Given the description of an element on the screen output the (x, y) to click on. 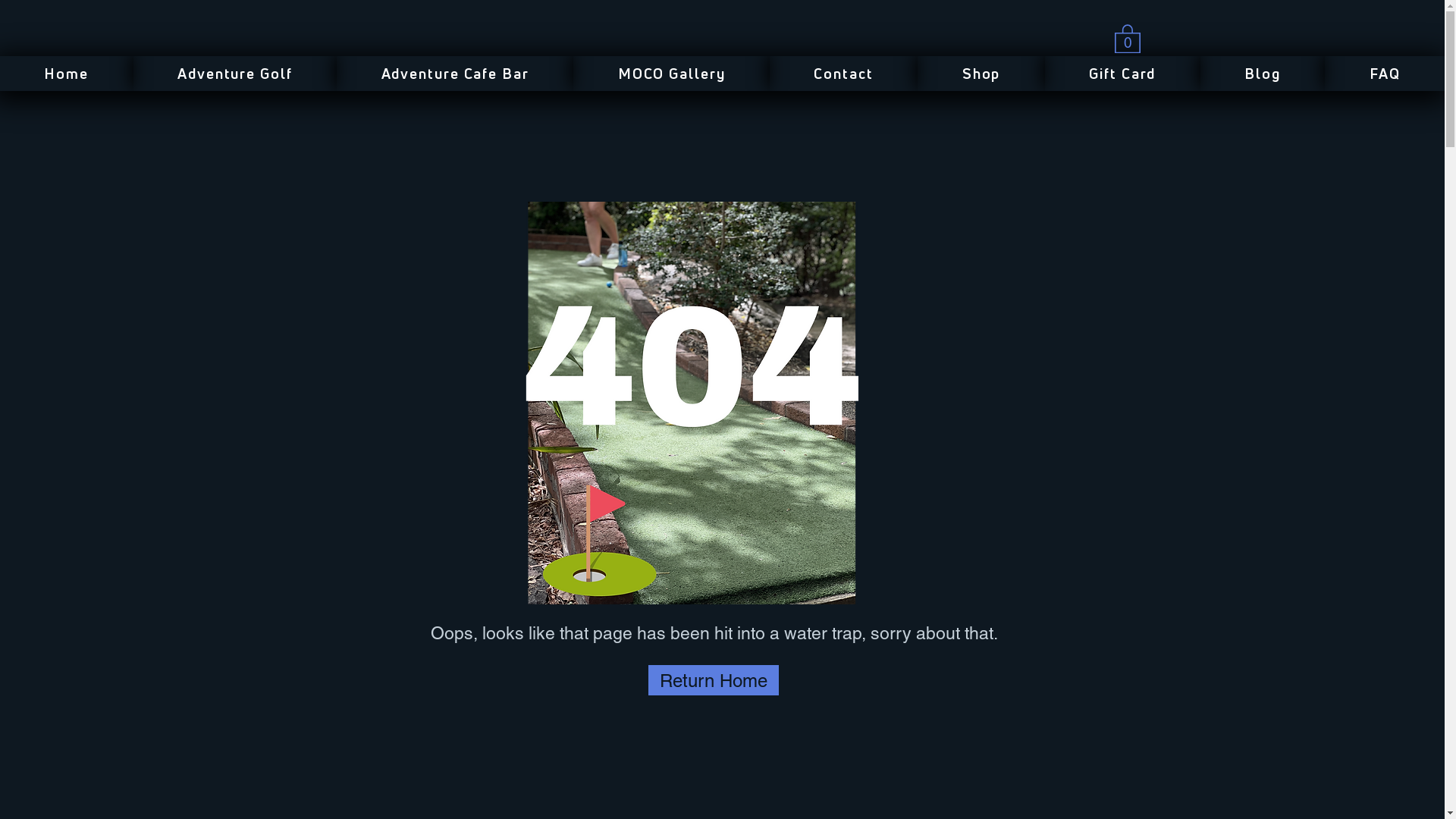
Return Home Element type: text (712, 680)
Shop Element type: text (980, 73)
0 Element type: text (1127, 37)
FAQ Element type: text (1384, 73)
MOCO Gallery Element type: text (671, 73)
Contact Element type: text (843, 73)
Blog Element type: text (1262, 73)
Adventure Golf Element type: text (235, 73)
Home Element type: text (66, 73)
Adventure Cafe Bar Element type: text (454, 73)
Gift Card Element type: text (1122, 73)
